Given the description of an element on the screen output the (x, y) to click on. 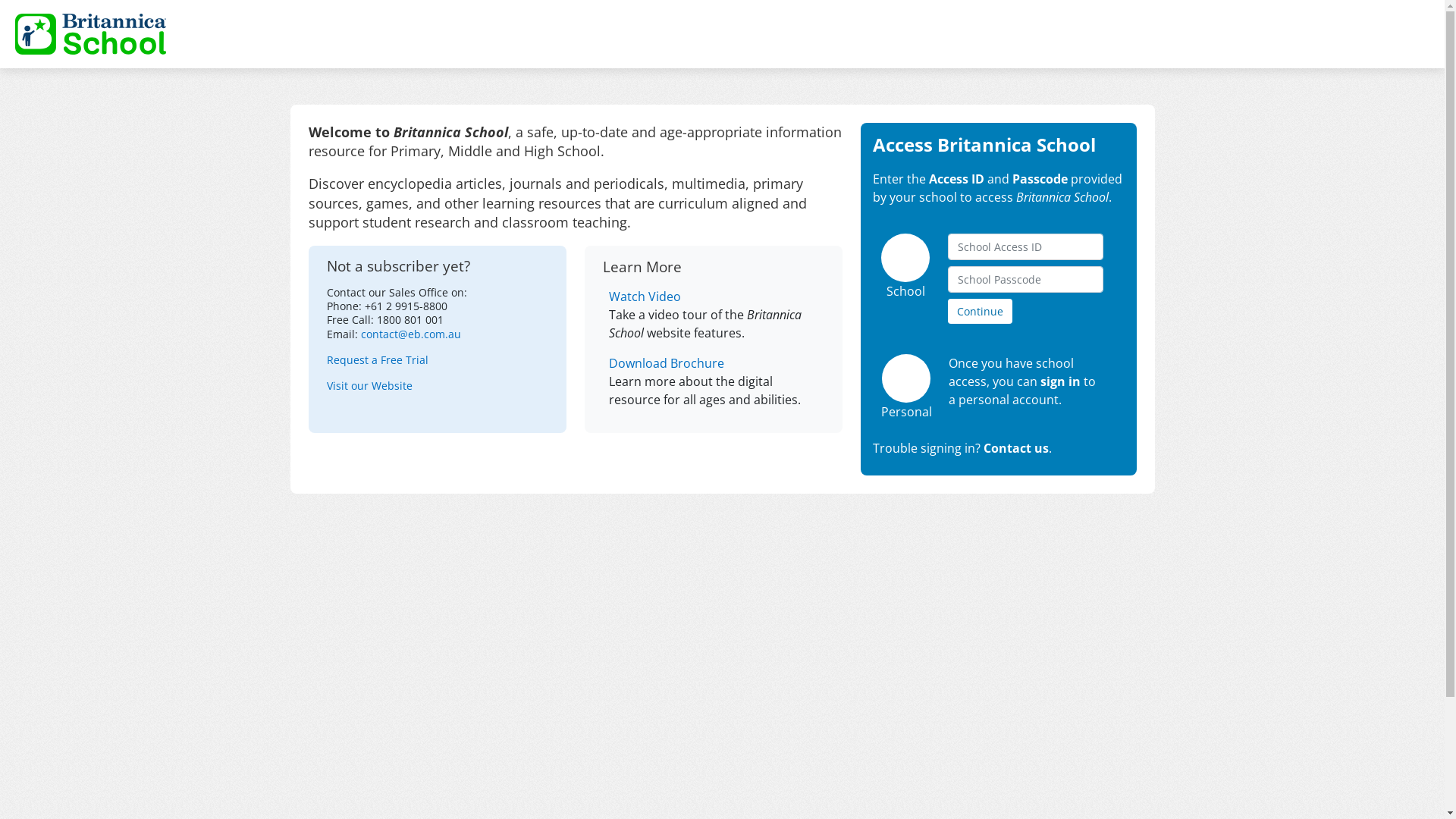
Watch Video Element type: text (715, 296)
Britannica School Element type: hover (90, 33)
Continue Element type: text (979, 310)
Visit our Website Element type: text (368, 385)
Contact us Element type: text (1015, 447)
Request a Free Trial Element type: text (376, 359)
Download Brochure Element type: text (715, 363)
contact@eb.com.au Element type: text (410, 333)
